Given the description of an element on the screen output the (x, y) to click on. 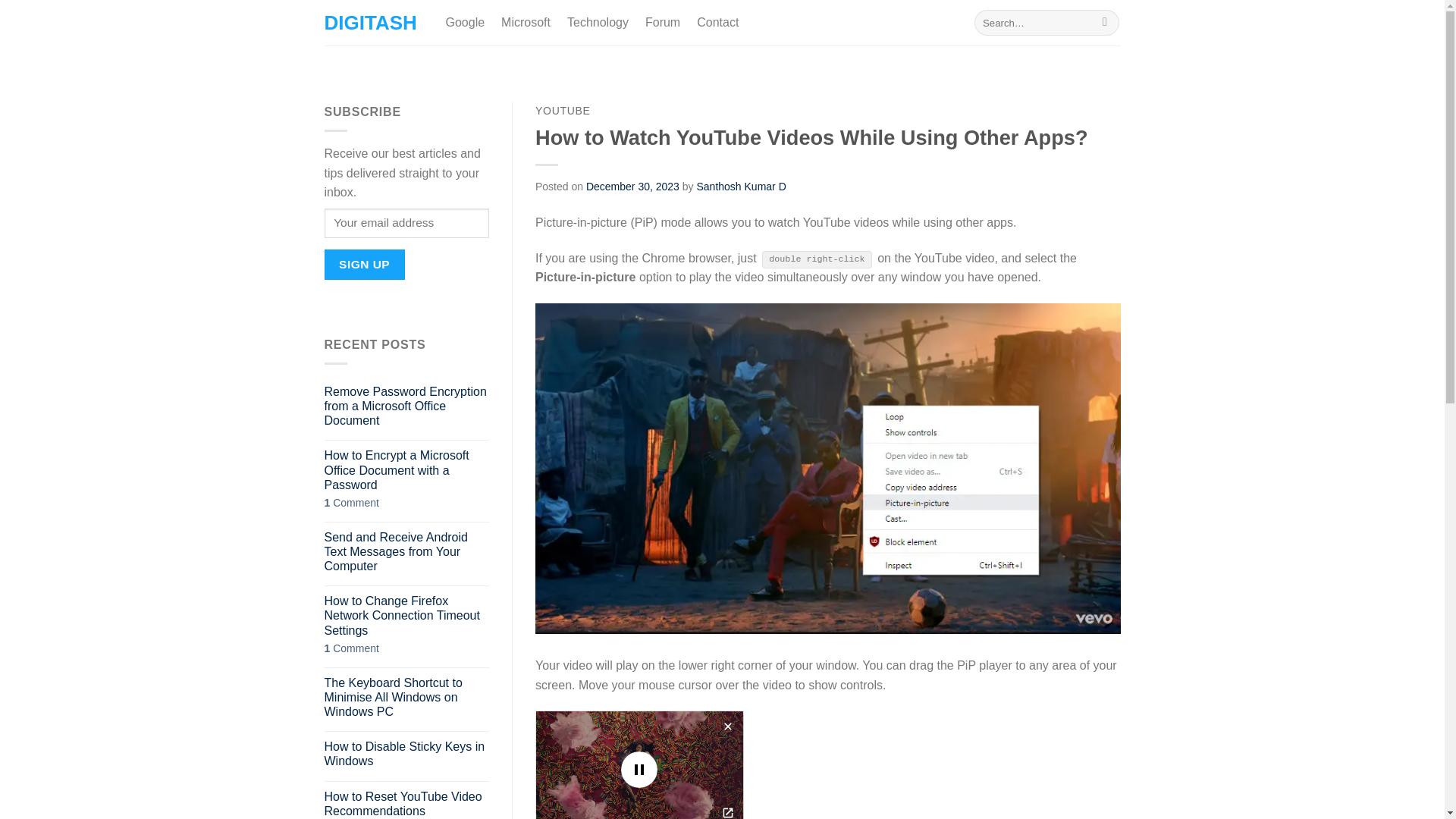
How to Disable Sticky Keys in Windows (406, 753)
The Keyboard Shortcut to Minimise All Windows on Windows PC (406, 697)
Sign up (364, 264)
Forum (662, 22)
DIGITASH (373, 22)
Contact (717, 22)
Technology (597, 22)
Send and Receive Android Text Messages from Your Computer (406, 551)
How to Change Firefox Network Connection Timeout Settings (406, 615)
1 Comment (406, 648)
